Given the description of an element on the screen output the (x, y) to click on. 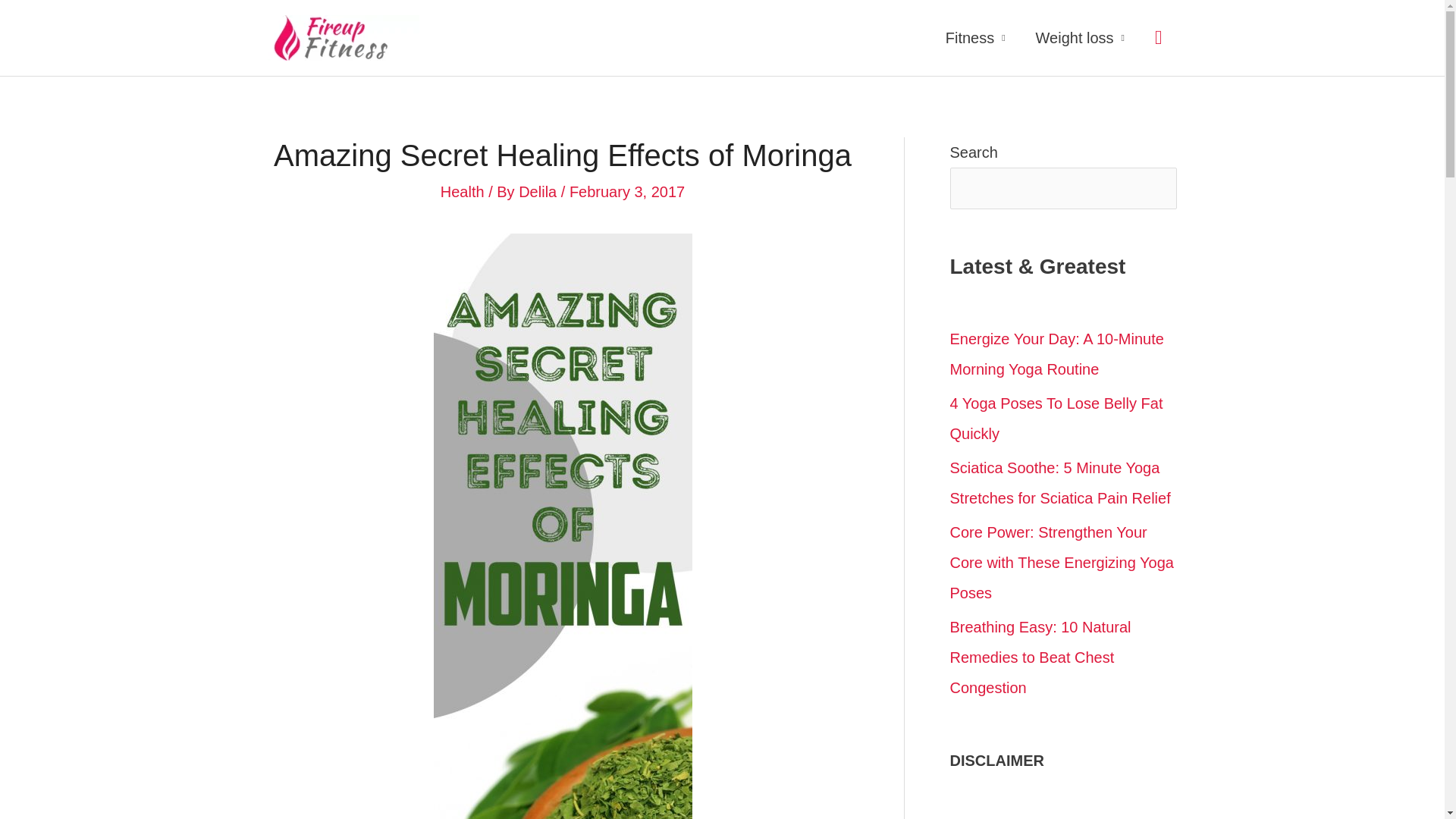
Breathing Easy: 10 Natural Remedies to Beat Chest Congestion (1040, 657)
Health (462, 191)
4 Yoga Poses To Lose Belly Fat Quickly (1055, 418)
Delila (539, 191)
Fitness (975, 38)
View all posts by Delila (539, 191)
Weight loss (1080, 38)
Energize Your Day: A 10-Minute Morning Yoga Routine (1056, 353)
